Given the description of an element on the screen output the (x, y) to click on. 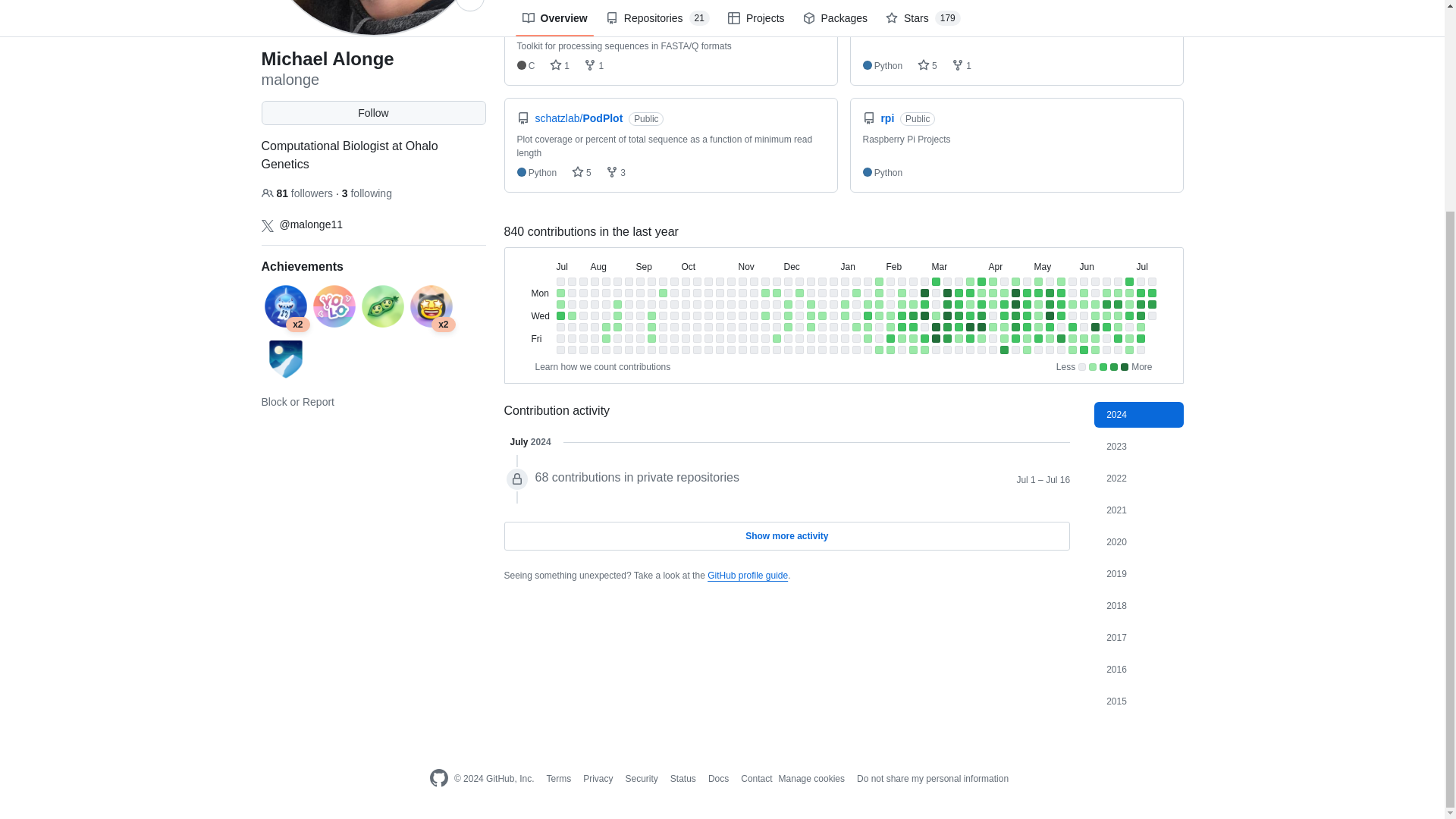
X (266, 225)
GitHub (438, 778)
